Given the description of an element on the screen output the (x, y) to click on. 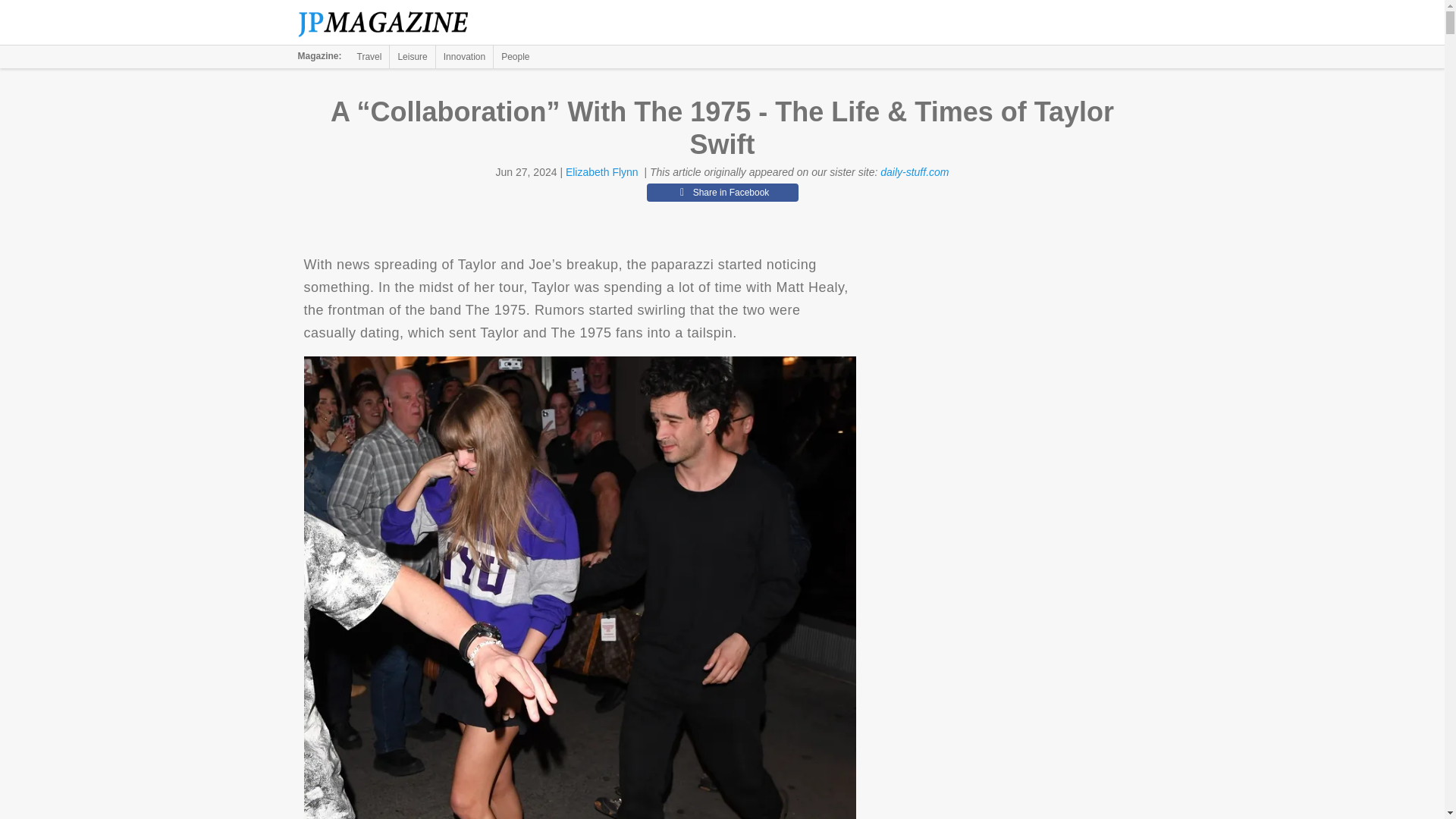
daily-stuff.com (914, 172)
People (515, 56)
The Jerusalem Post Magazine (391, 22)
Leisure (411, 56)
Elizabeth Flynn (602, 172)
Innovation (464, 56)
Travel (369, 56)
Share in Facebook (721, 192)
